Given the description of an element on the screen output the (x, y) to click on. 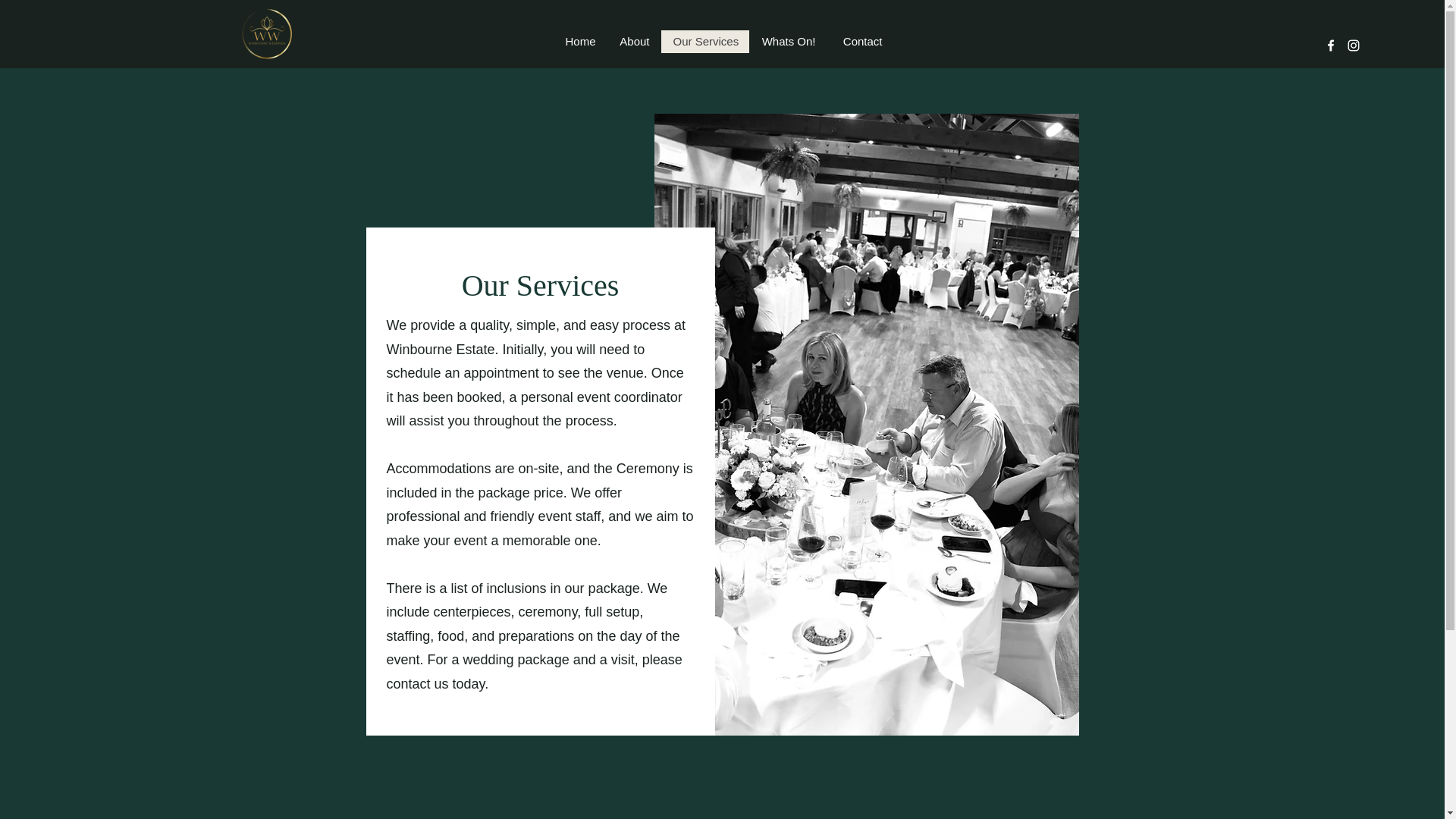
Whats On! (788, 41)
Our Services (705, 41)
About (634, 41)
Contact (860, 41)
Home (580, 41)
